Given the description of an element on the screen output the (x, y) to click on. 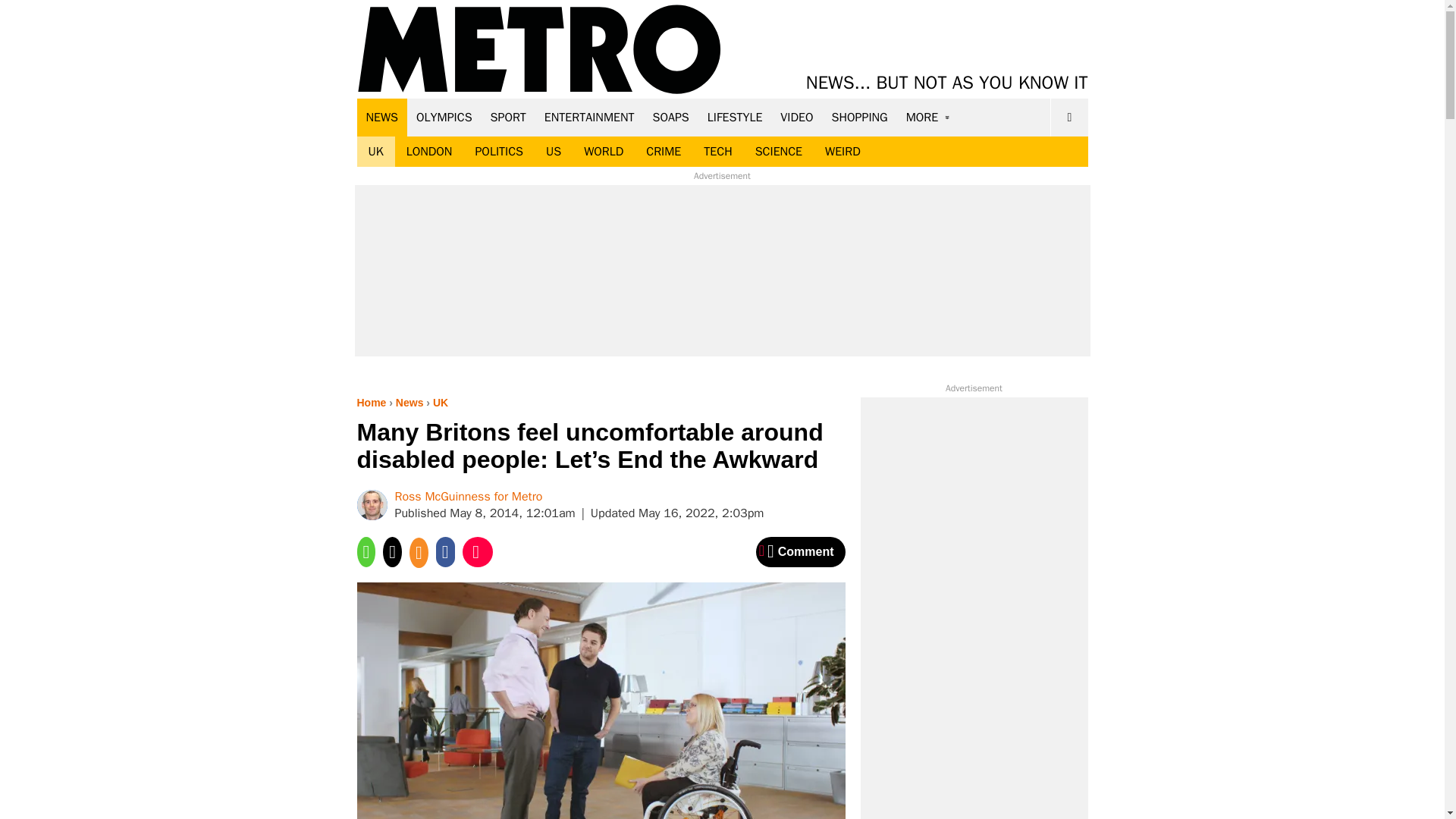
CRIME (663, 151)
POLITICS (498, 151)
Metro (539, 50)
LIFESTYLE (734, 117)
ENTERTAINMENT (589, 117)
UK (375, 151)
WEIRD (842, 151)
TECH (717, 151)
NEWS (381, 117)
US (553, 151)
SOAPS (670, 117)
SPORT (508, 117)
OLYMPICS (444, 117)
LONDON (429, 151)
WORLD (603, 151)
